Given the description of an element on the screen output the (x, y) to click on. 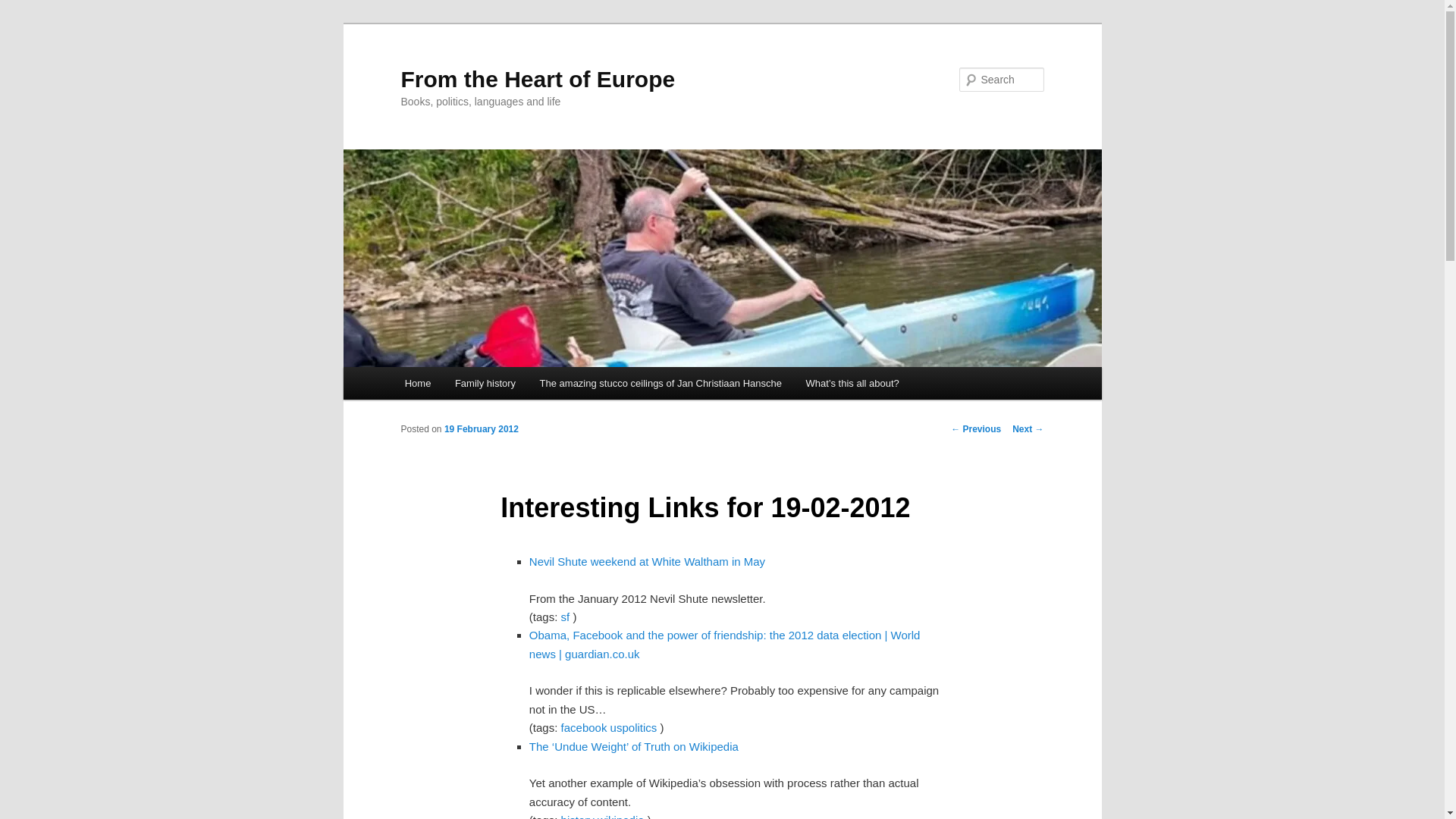
The amazing stucco ceilings of Jan Christiaan Hansche (660, 382)
19 February 2012 (481, 429)
sf (565, 616)
Search (24, 8)
From the Heart of Europe (537, 78)
Family history (484, 382)
Home (417, 382)
Nevil Shute weekend at White Waltham in May (647, 561)
